Given the description of an element on the screen output the (x, y) to click on. 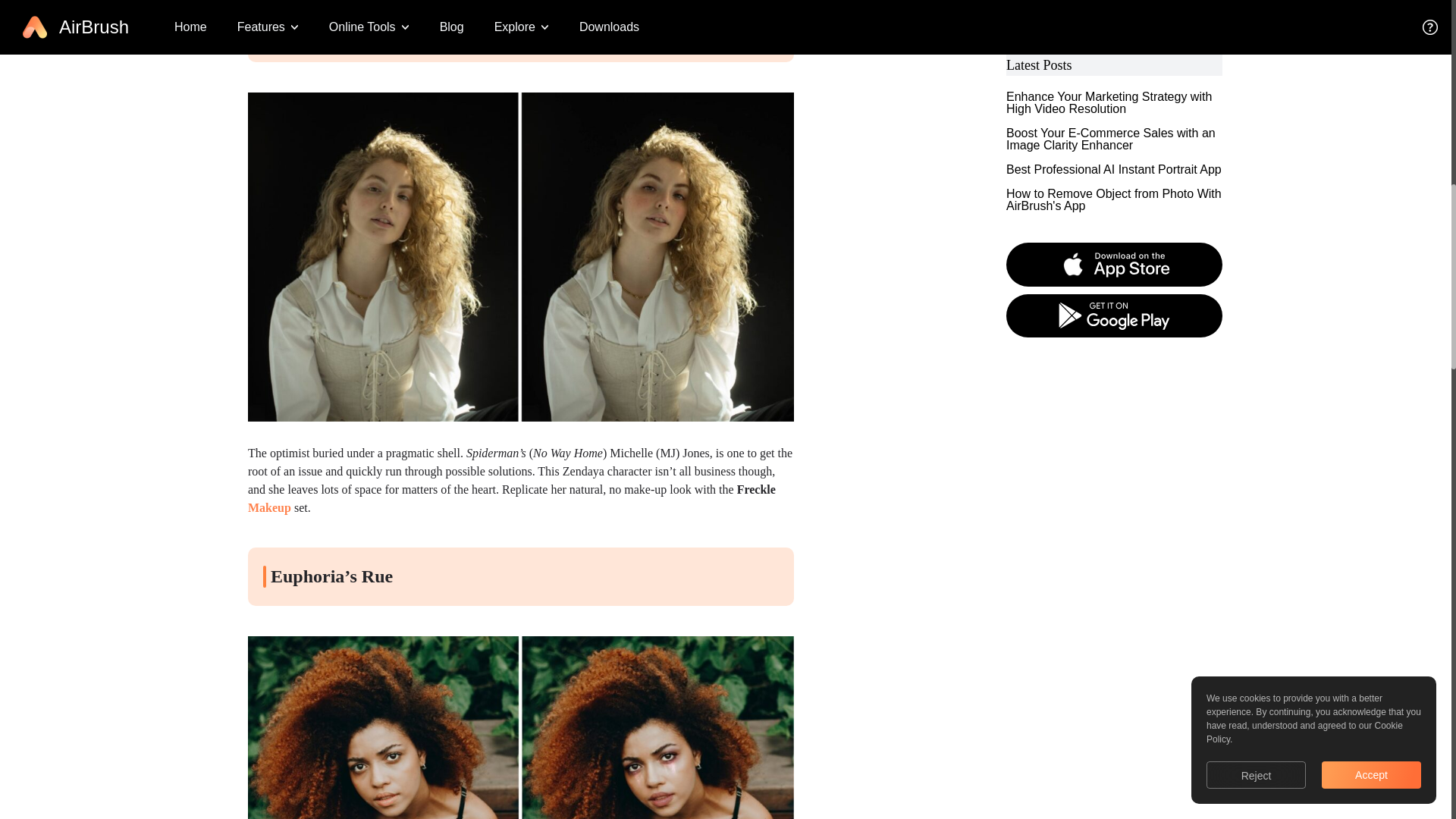
How to Remove Object from Photo With AirBrush's App (1114, 7)
Makeup (269, 507)
